Given the description of an element on the screen output the (x, y) to click on. 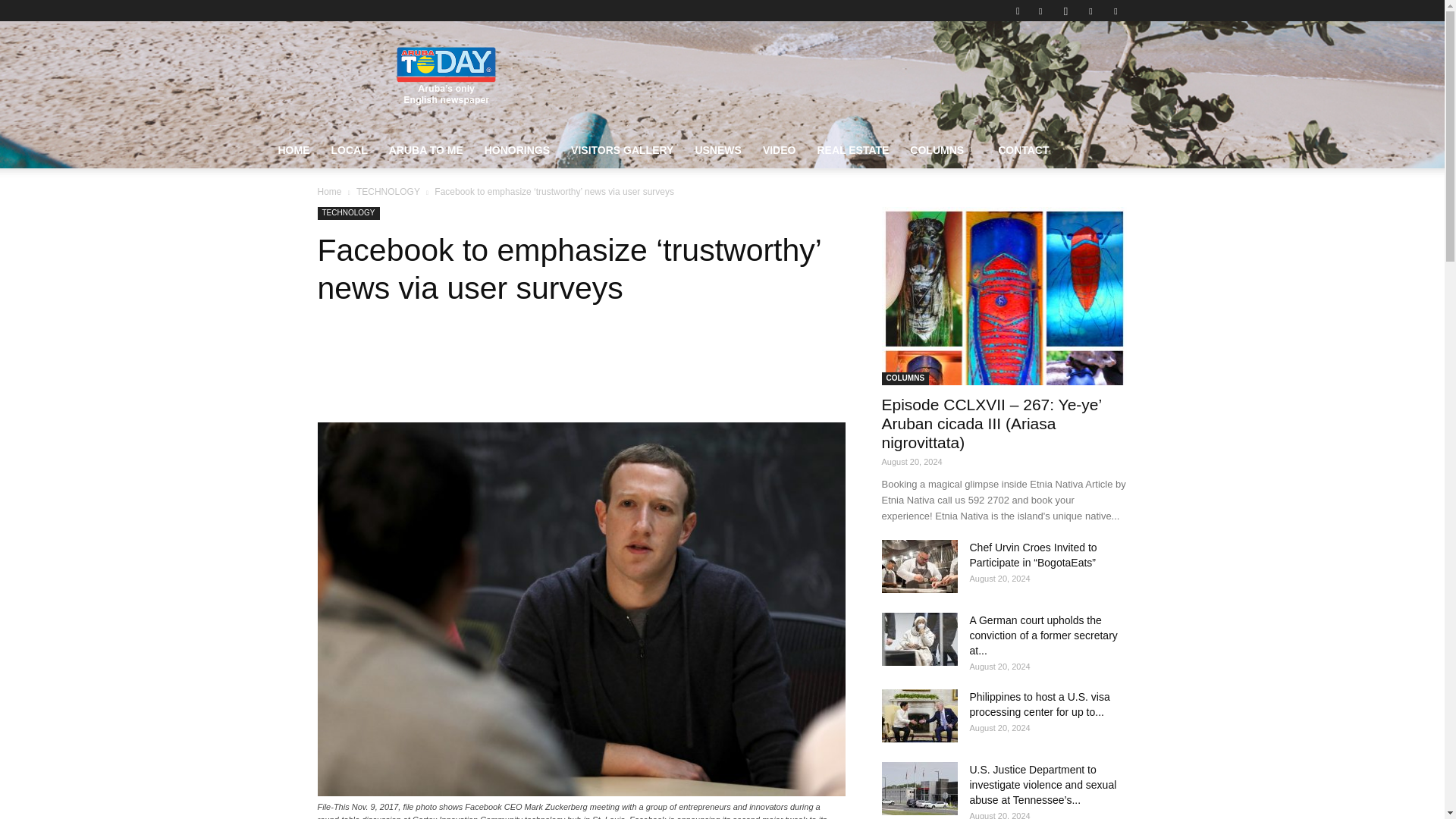
ARUBA TO ME (426, 149)
LOCAL (348, 149)
Mail (1090, 10)
HONORINGS (517, 149)
Instagram (1065, 10)
Search (1085, 64)
View all posts in TECHNOLOGY (388, 191)
USNEWS (717, 149)
Facebook (1040, 10)
